Given the description of an element on the screen output the (x, y) to click on. 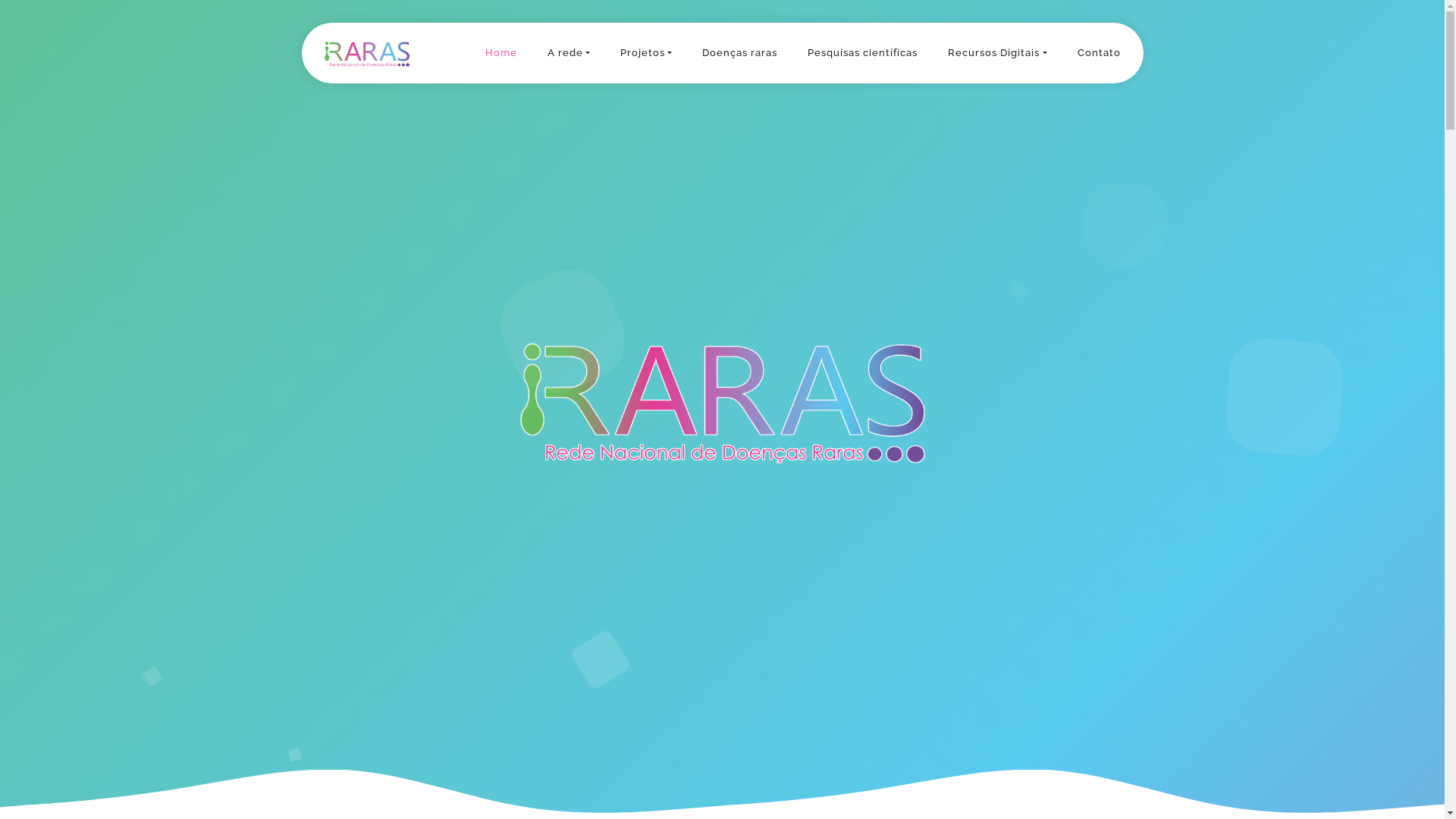
Contato Element type: text (1098, 52)
Projetos Element type: text (645, 52)
Home Element type: text (501, 52)
Recursos Digitais Element type: text (996, 52)
A rede Element type: text (568, 52)
